Given the description of an element on the screen output the (x, y) to click on. 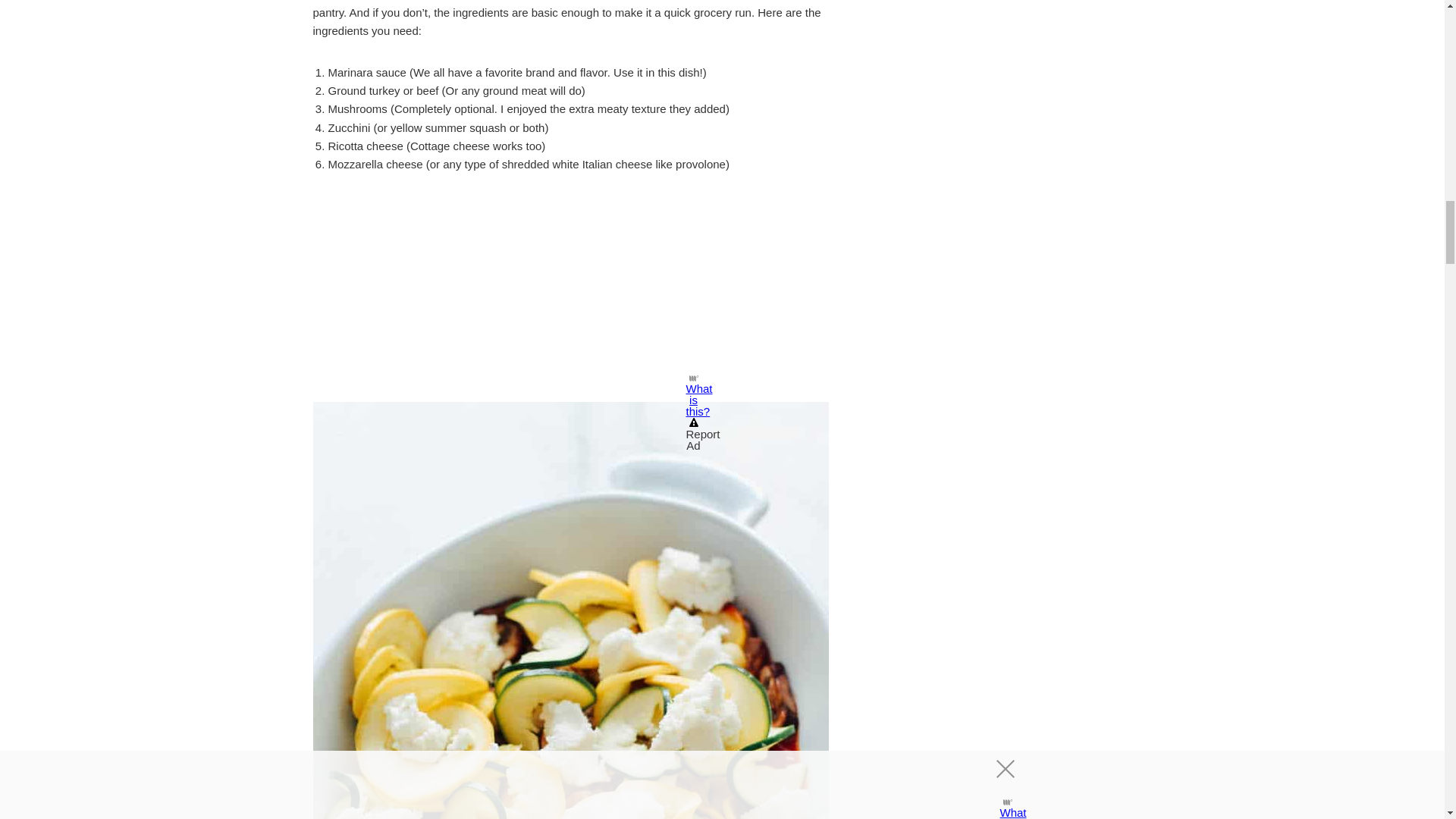
3rd party ad content (570, 291)
